Given the description of an element on the screen output the (x, y) to click on. 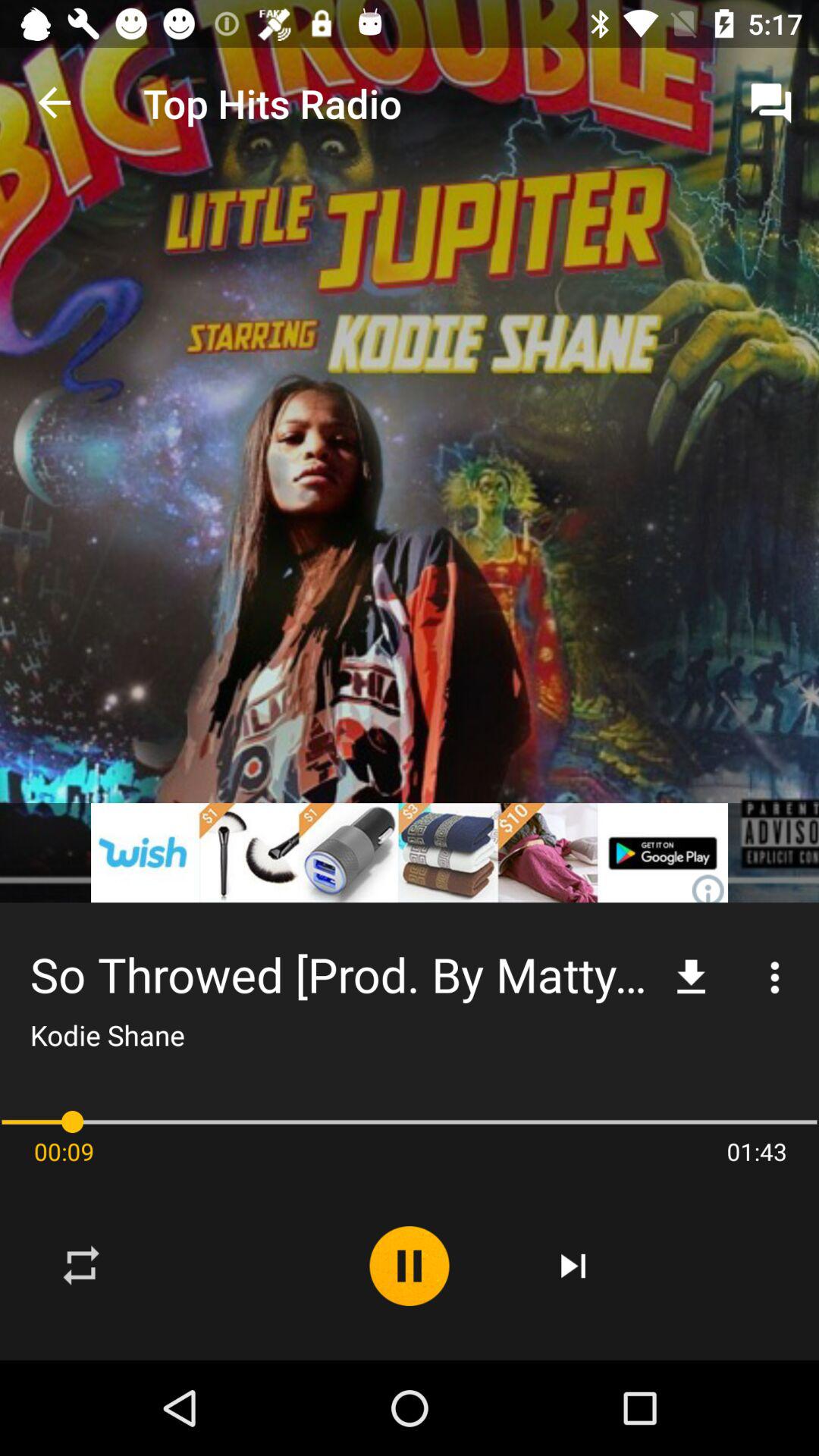
choose the icon to the right of top hits radio (771, 103)
